Given the description of an element on the screen output the (x, y) to click on. 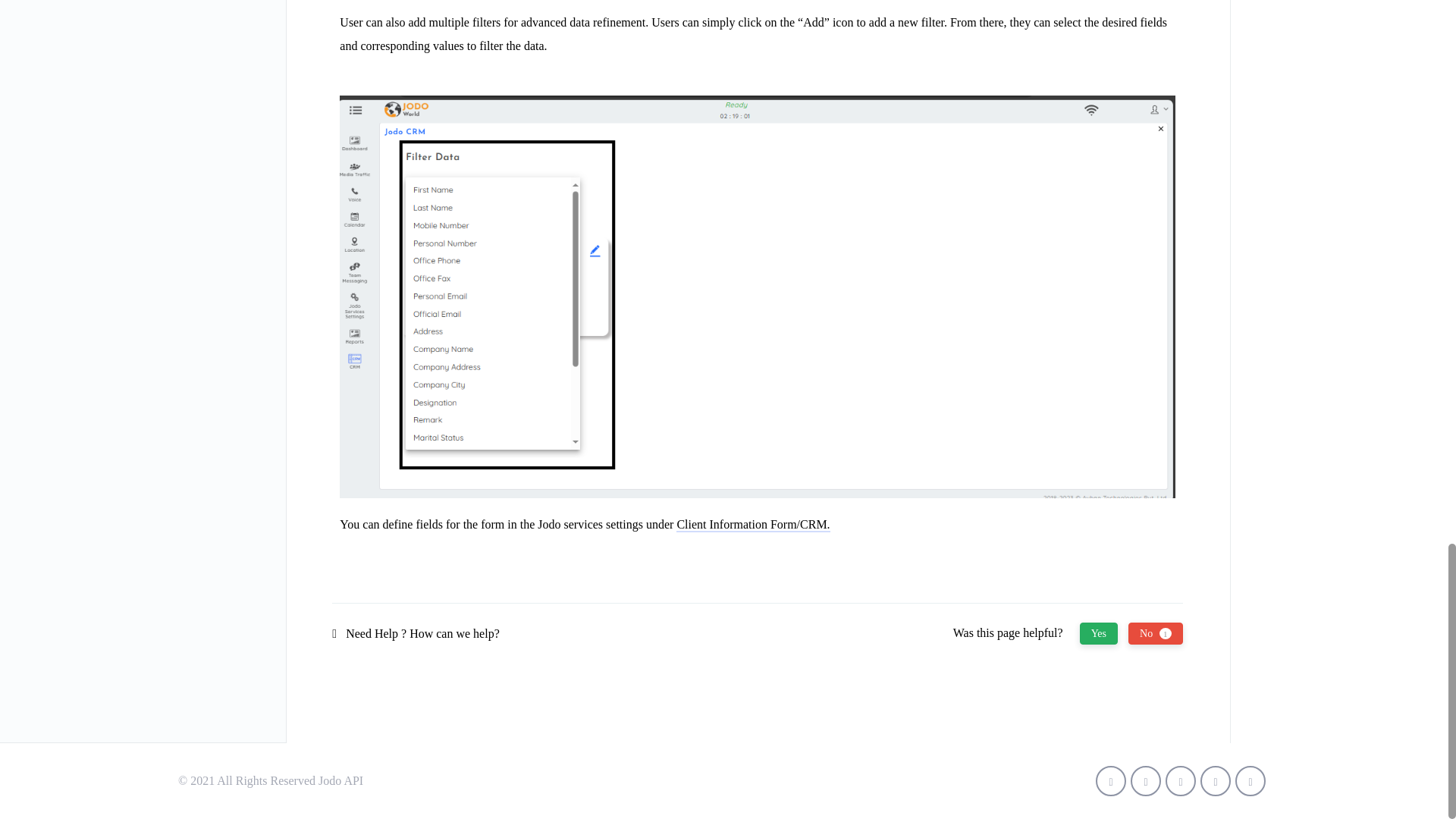
1 person found this not useful (1155, 632)
No votes yet (1099, 632)
